Given the description of an element on the screen output the (x, y) to click on. 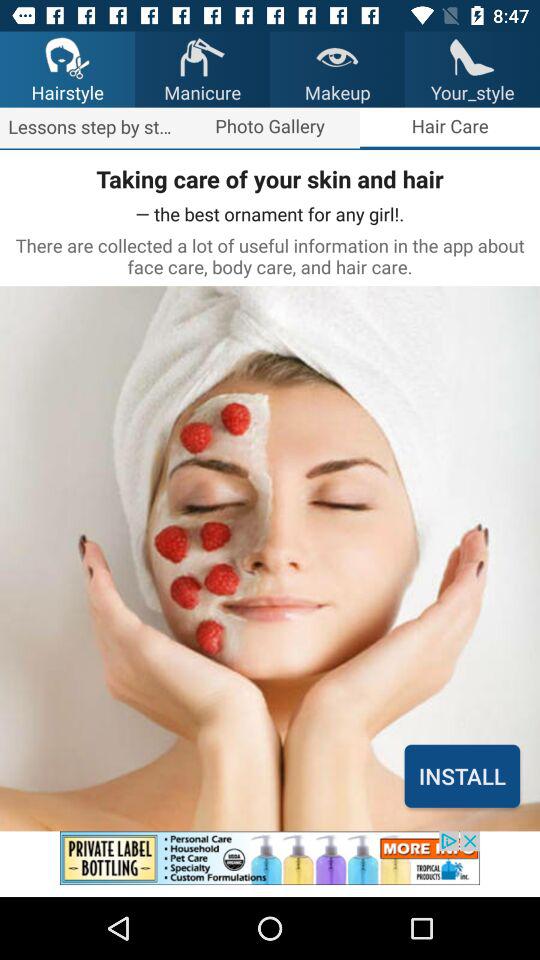
open advertisement (270, 864)
